Given the description of an element on the screen output the (x, y) to click on. 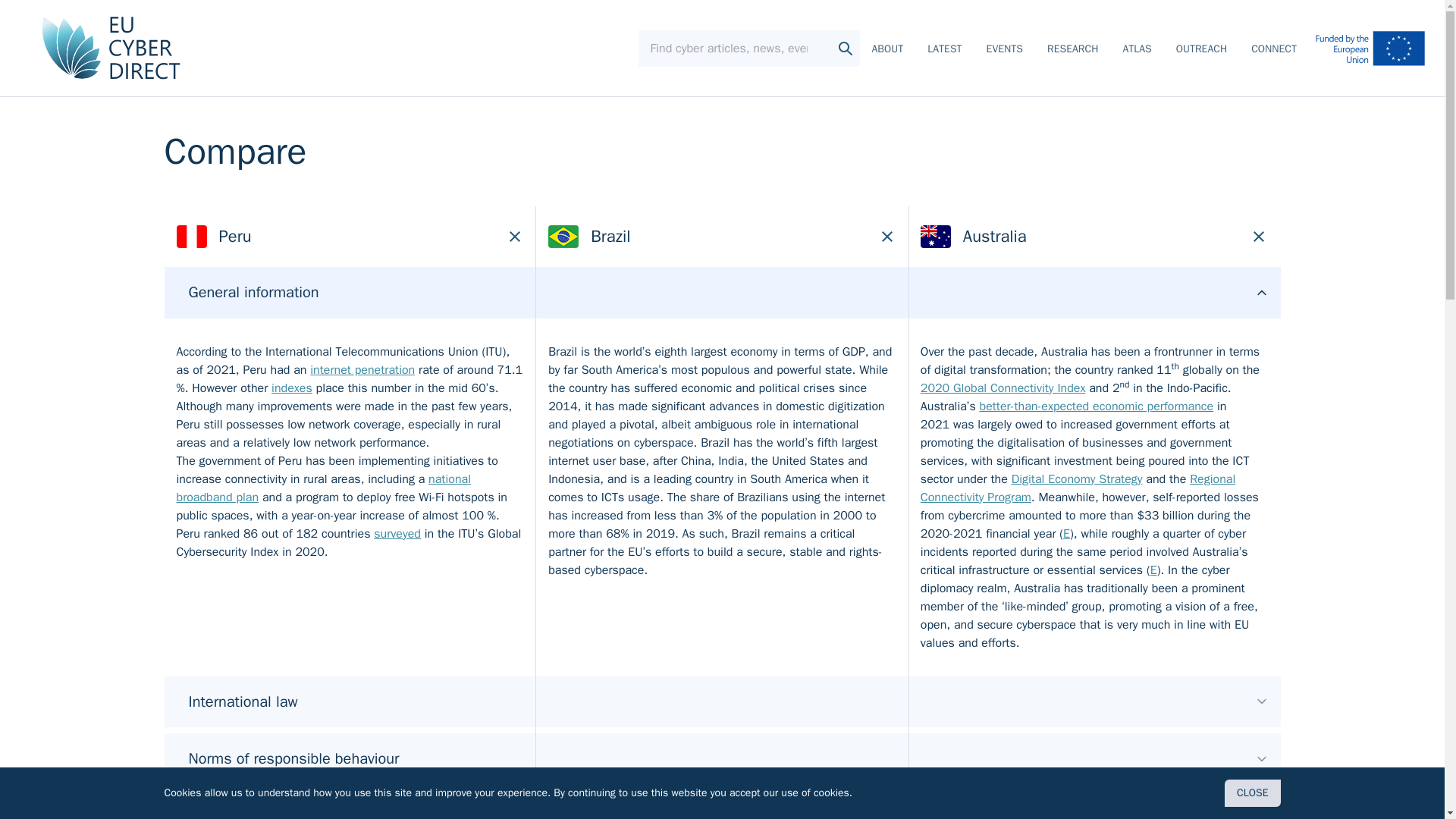
ABOUT (888, 50)
better-than-expected economic performance (1096, 406)
RESEARCH (1071, 50)
Connect (1273, 50)
Resilience (721, 804)
ATLAS (1136, 50)
About (888, 50)
Outreach (1201, 50)
LATEST (943, 50)
Digital Economy Strategy (1076, 478)
indexes (291, 387)
Atlas (1136, 50)
International law (721, 702)
Latest (943, 50)
surveyed (397, 533)
